Given the description of an element on the screen output the (x, y) to click on. 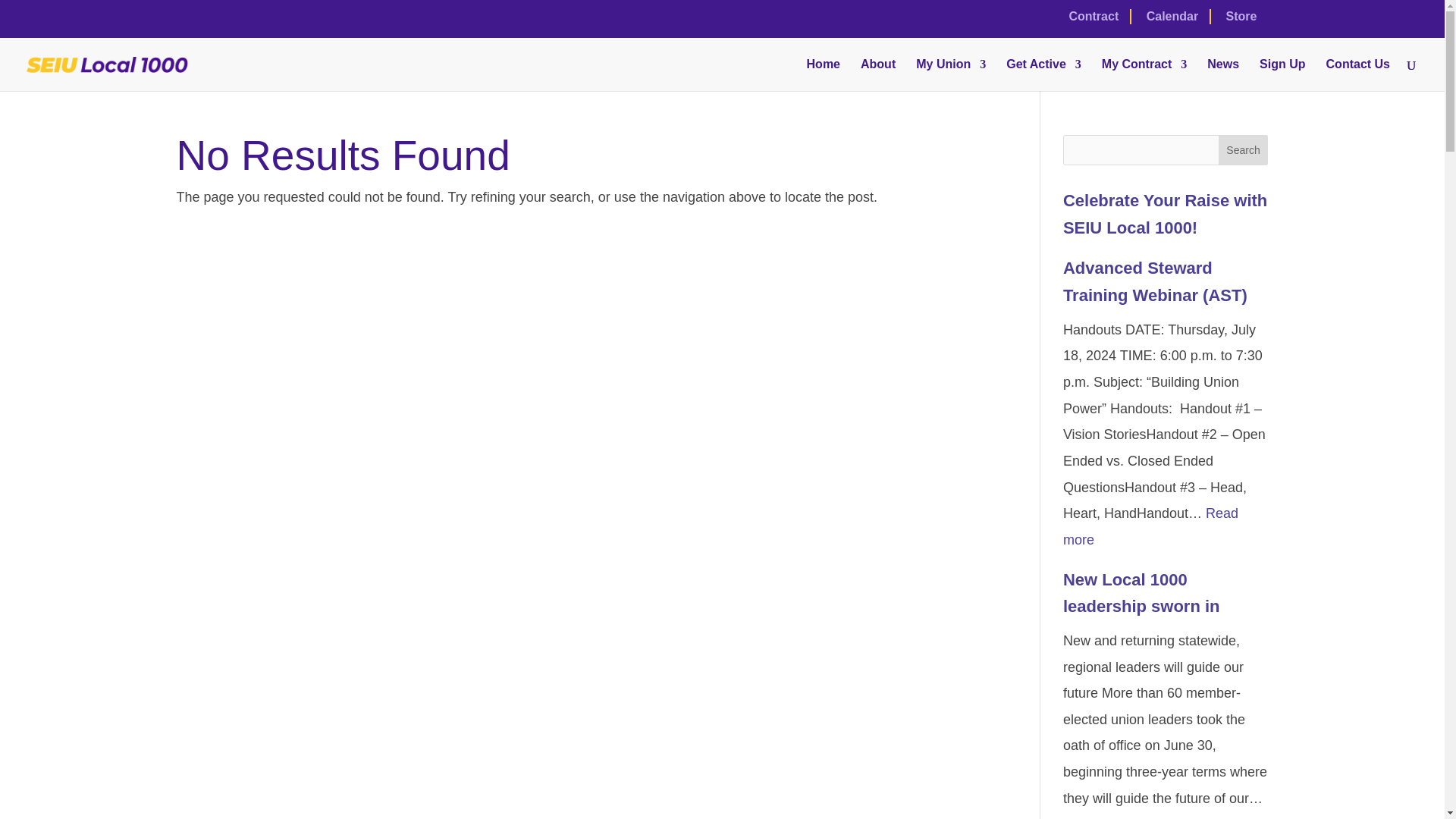
Calendar (1172, 21)
Sign Up (1281, 74)
Get Active (1043, 74)
My Contract (1144, 74)
My Union (950, 74)
Home (823, 74)
Contract (1093, 21)
News (1223, 74)
About (877, 74)
Store (1241, 20)
